Given the description of an element on the screen output the (x, y) to click on. 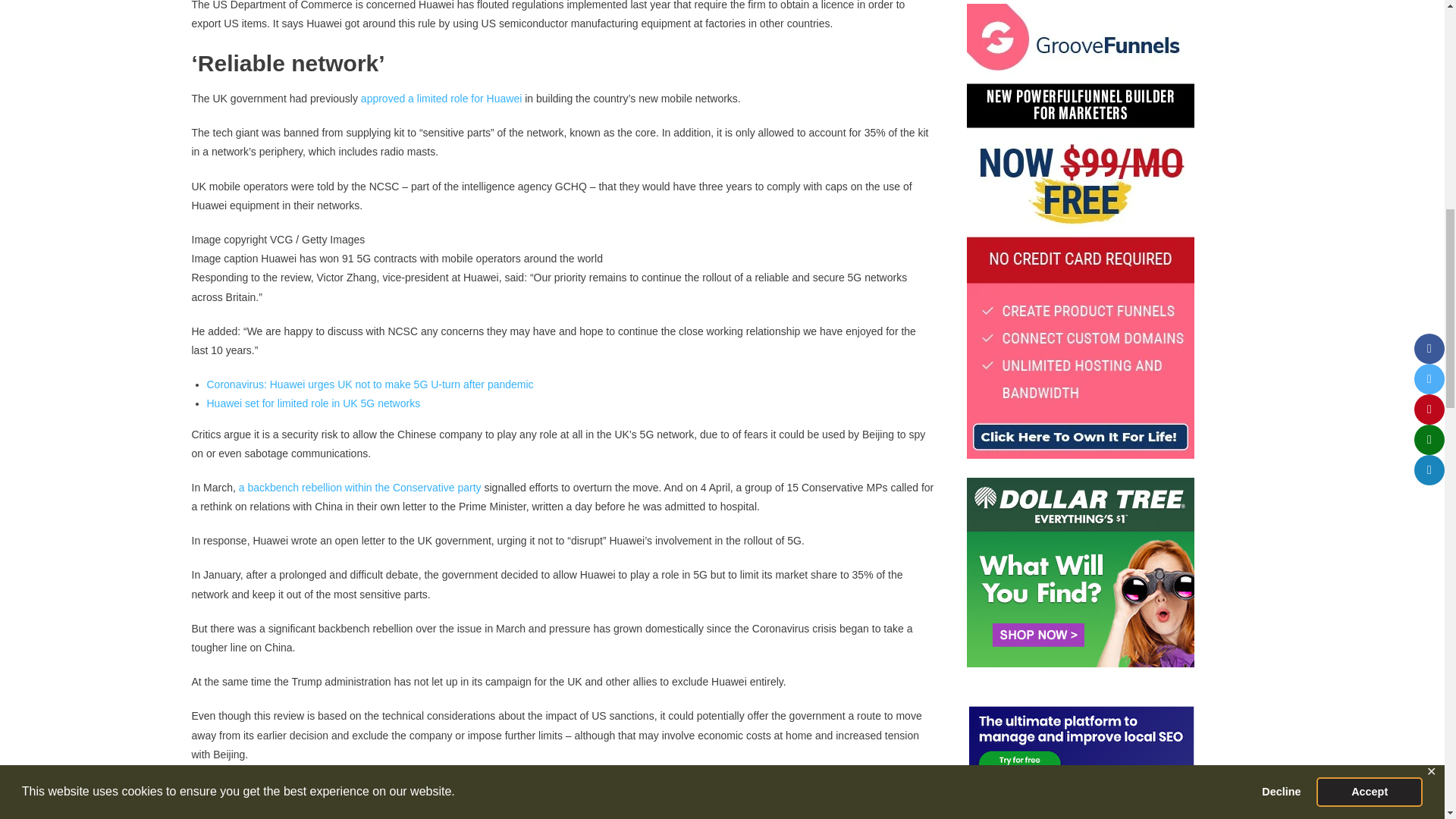
approved a limited role for Huawei (441, 98)
a backbench rebellion within the Conservative party (359, 487)
Huawei set for limited role in UK 5G networks (313, 403)
